Given the description of an element on the screen output the (x, y) to click on. 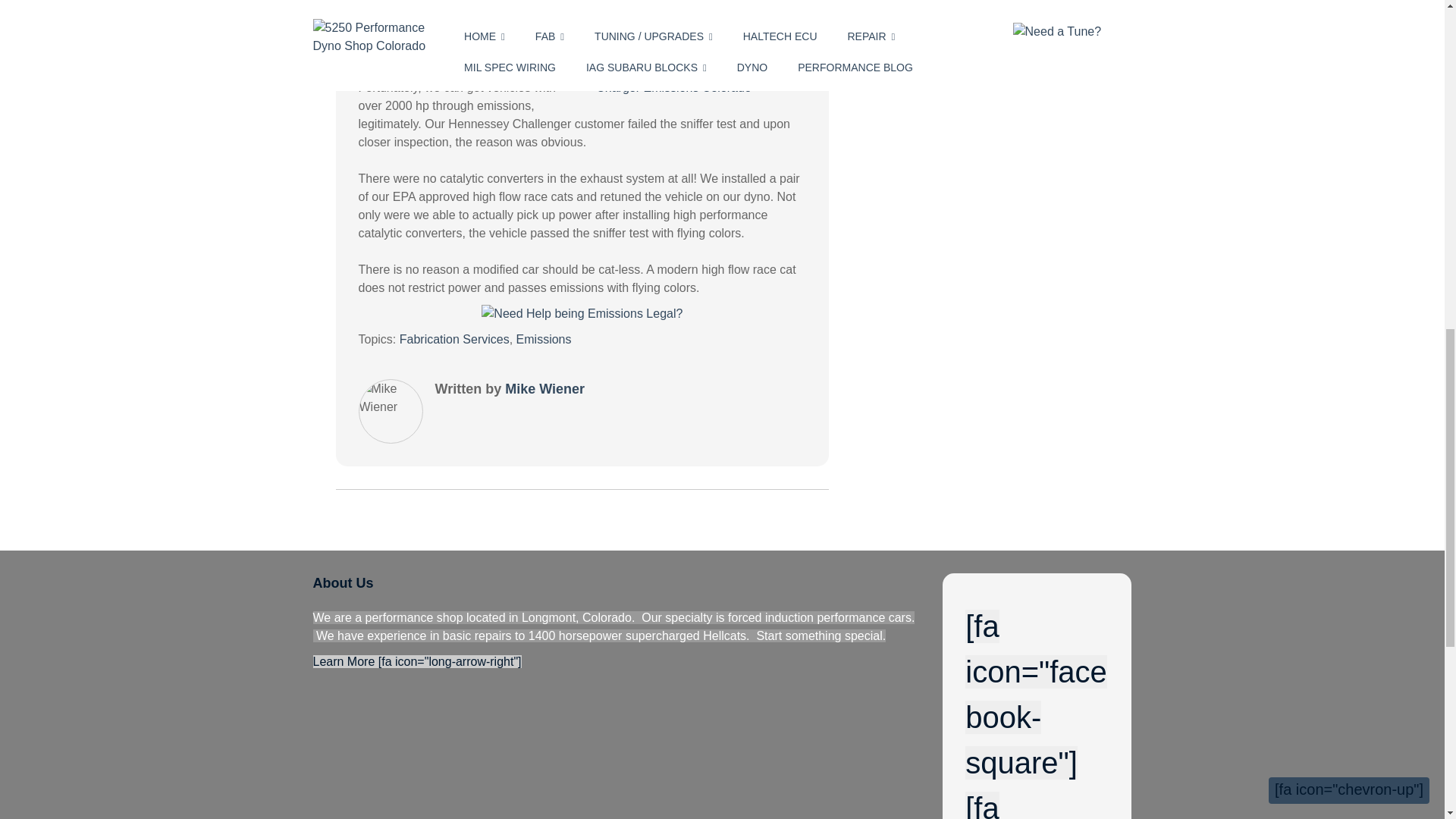
Fabrication Services (453, 338)
Charger Emissions Colorado (694, 87)
Mike Wiener (545, 387)
Emissions (544, 338)
